Given the description of an element on the screen output the (x, y) to click on. 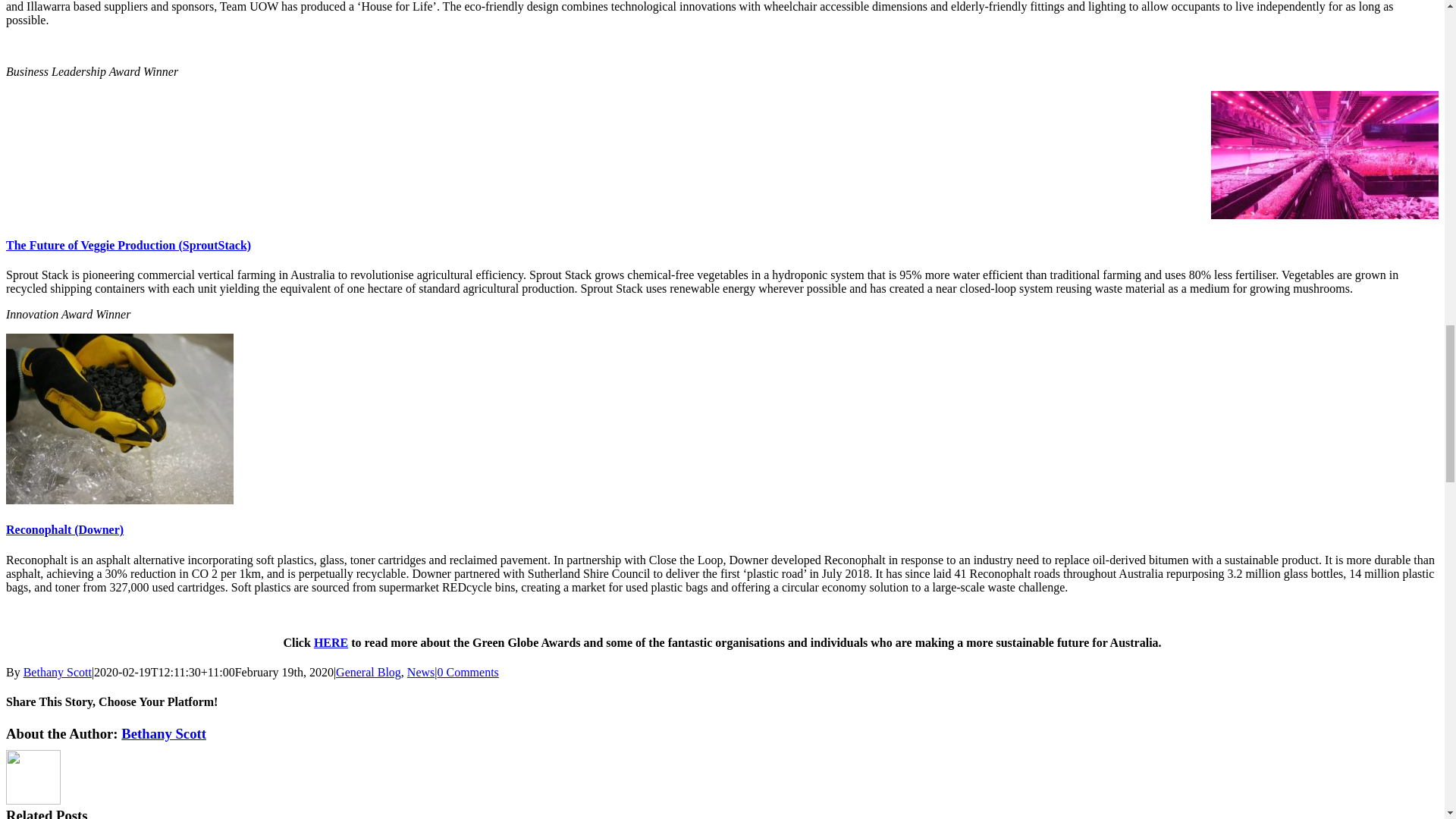
Posts by Bethany Scott (57, 671)
Posts by Bethany Scott (163, 733)
